Given the description of an element on the screen output the (x, y) to click on. 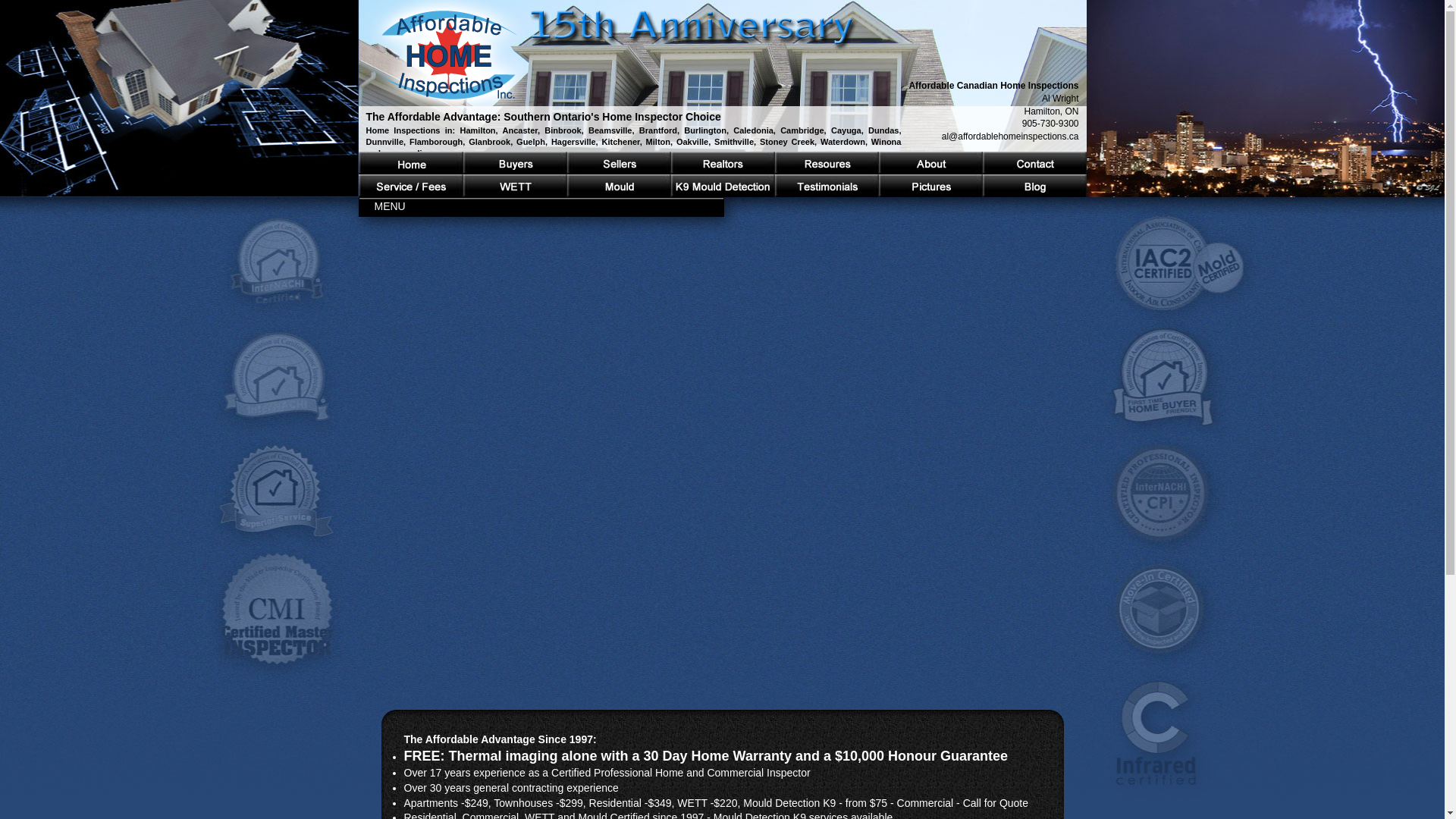
Return to Affordable Canadian Home Inspections main page Element type: hover (446, 56)
